Given the description of an element on the screen output the (x, y) to click on. 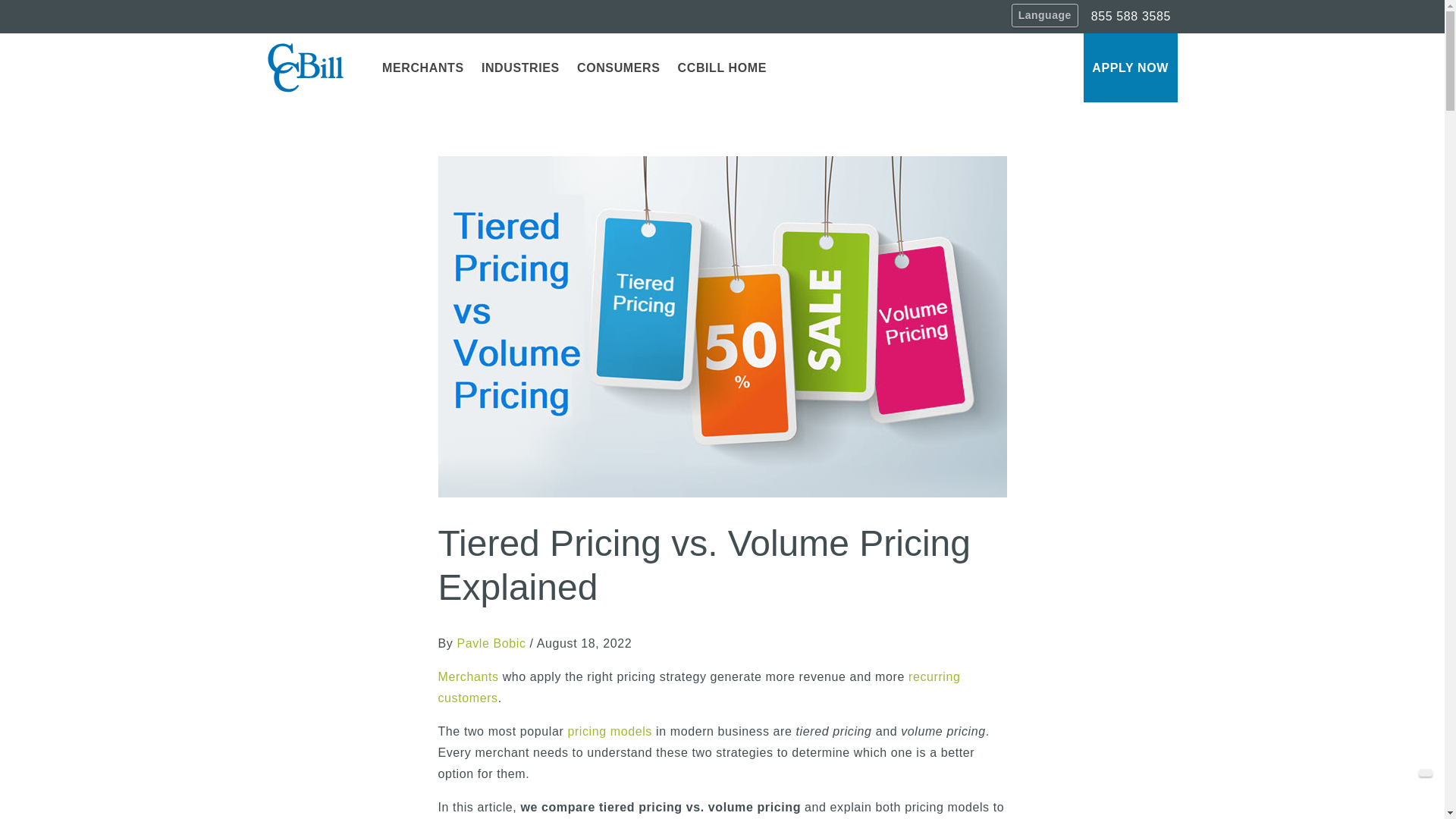
CONSUMERS (617, 67)
Pavle Bobic (491, 643)
MERCHANTS (421, 67)
INDUSTRIES (519, 67)
CCBILL HOME (722, 67)
Language (1044, 15)
Merchants (468, 676)
recurring customers (699, 687)
CCBILL HOME (722, 67)
CONSUMERS (617, 67)
